Given the description of an element on the screen output the (x, y) to click on. 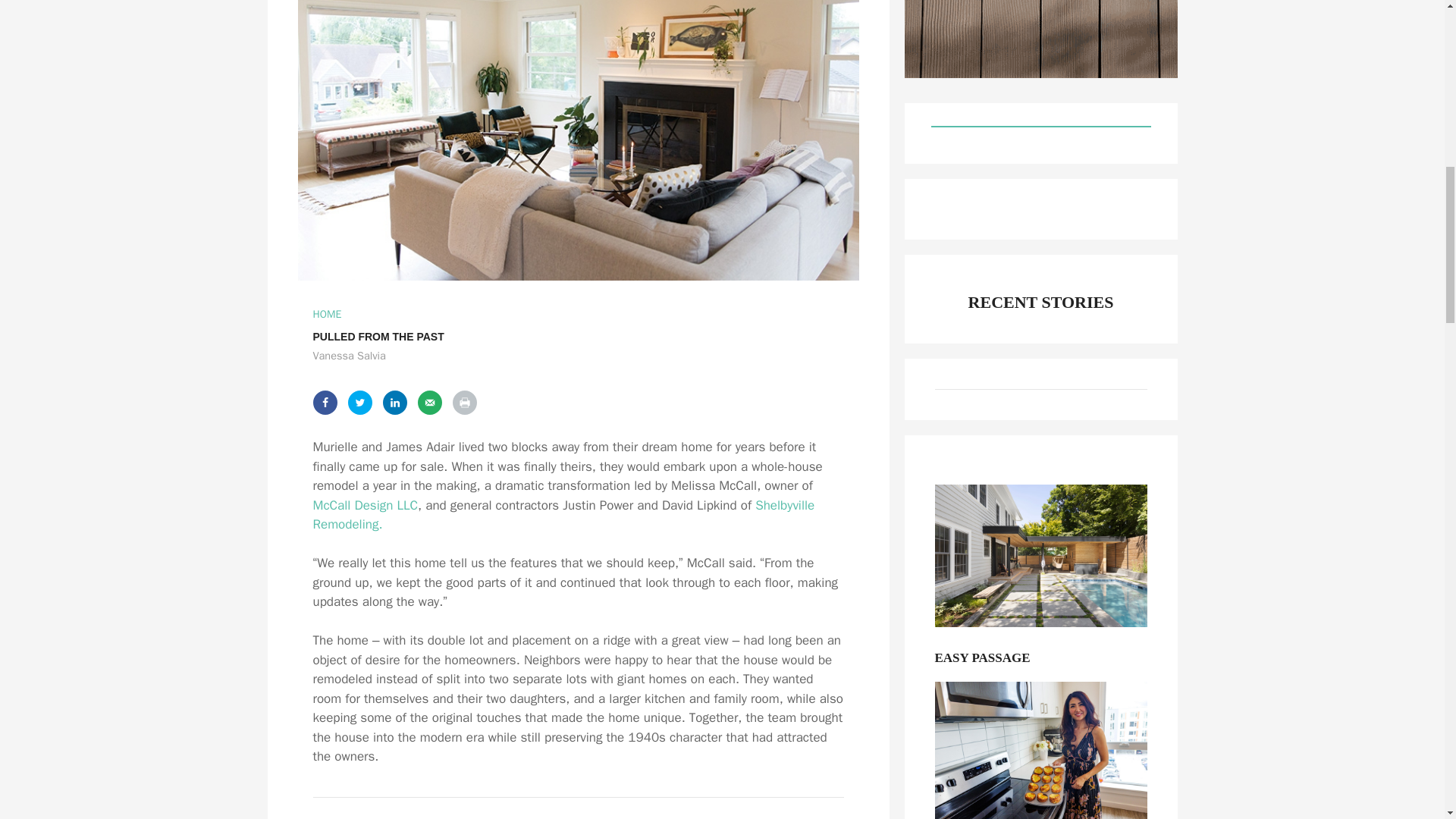
HOME (326, 314)
Share on Facebook (324, 402)
Print this webpage (463, 402)
Shelbyville Remodeling. (563, 515)
McCall Design LLC (365, 505)
Share on LinkedIn (393, 402)
Send over email (428, 402)
Share on Twitter (359, 402)
